Given the description of an element on the screen output the (x, y) to click on. 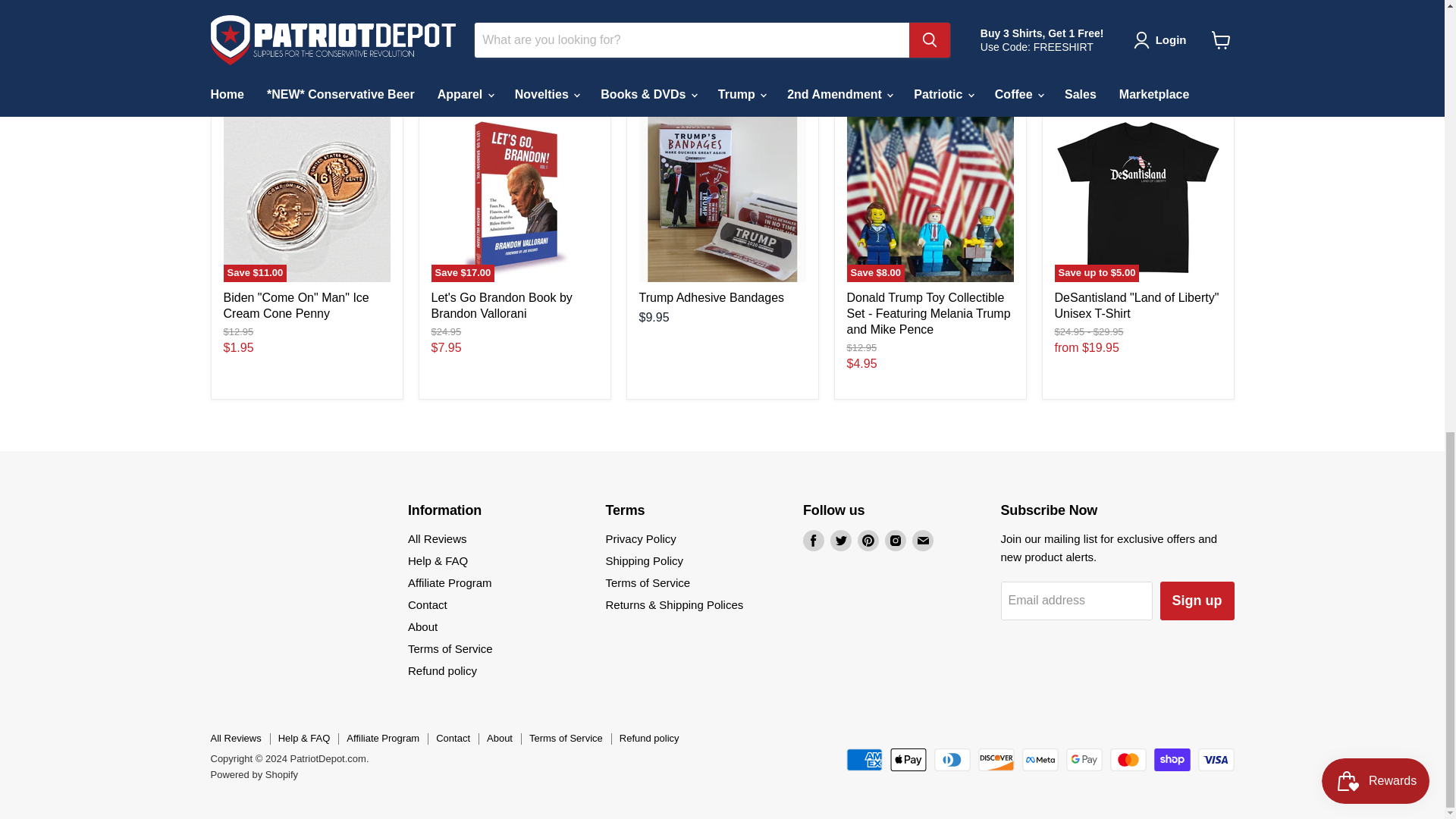
Pinterest (868, 540)
Facebook (813, 540)
Email (922, 540)
Twitter (840, 540)
Instagram (895, 540)
